Given the description of an element on the screen output the (x, y) to click on. 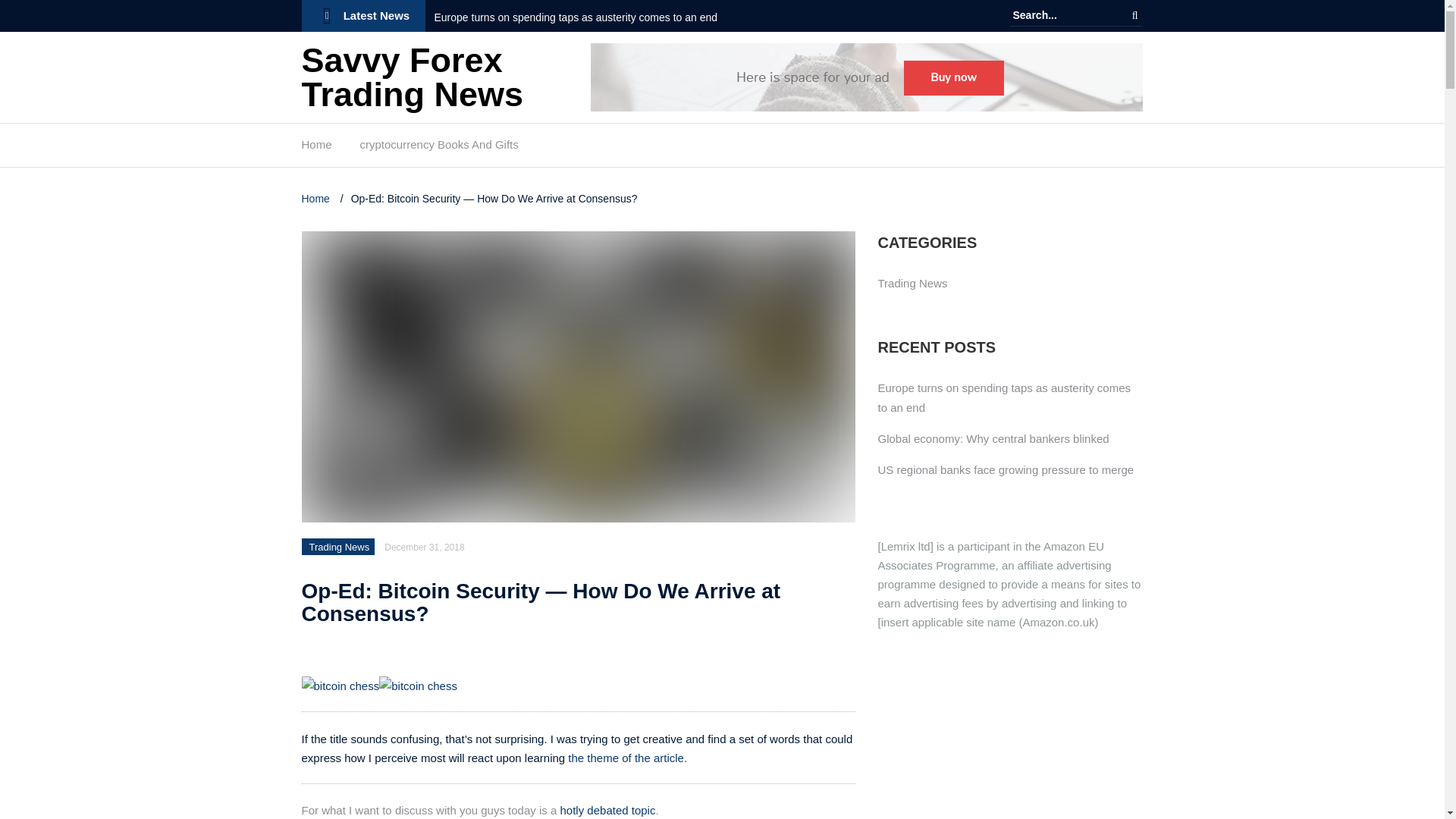
hotly debated topic (607, 809)
Trading News (338, 546)
Home (316, 148)
Home (317, 198)
Savvy Forex Trading News (412, 76)
Search   (1134, 14)
cryptocurrency Books And Gifts (438, 148)
the theme of the article. (627, 757)
Europe turns on spending taps as austerity comes to an end (575, 17)
